Given the description of an element on the screen output the (x, y) to click on. 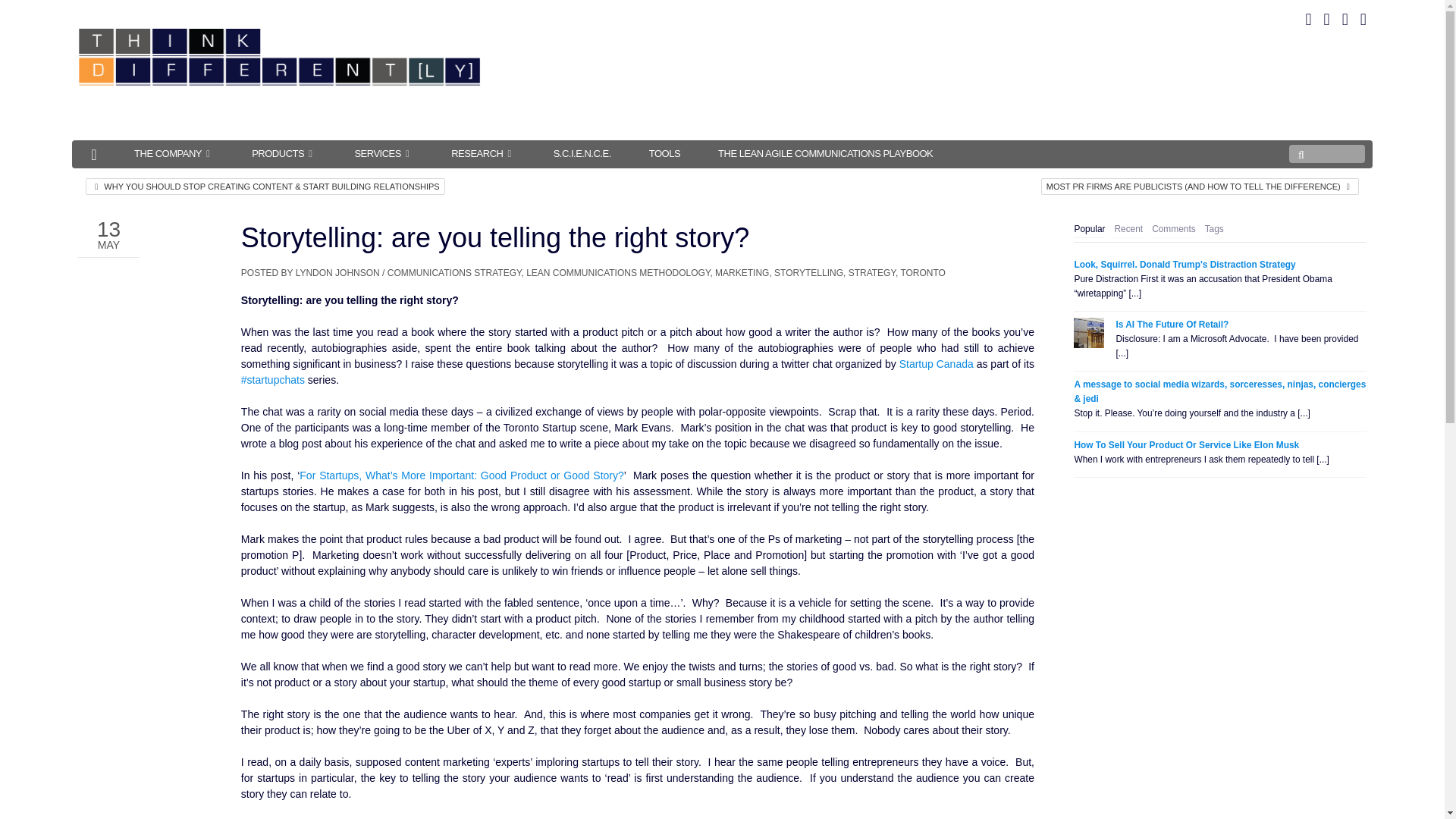
SERVICES (383, 153)
RESEARCH (483, 153)
TOOLS (664, 153)
THE COMPANY (173, 153)
Startup Canada (936, 363)
S.C.I.E.N.C.E. (582, 153)
Posts by Lyndon Johnson (337, 272)
PRODUCTS (283, 153)
